Given the description of an element on the screen output the (x, y) to click on. 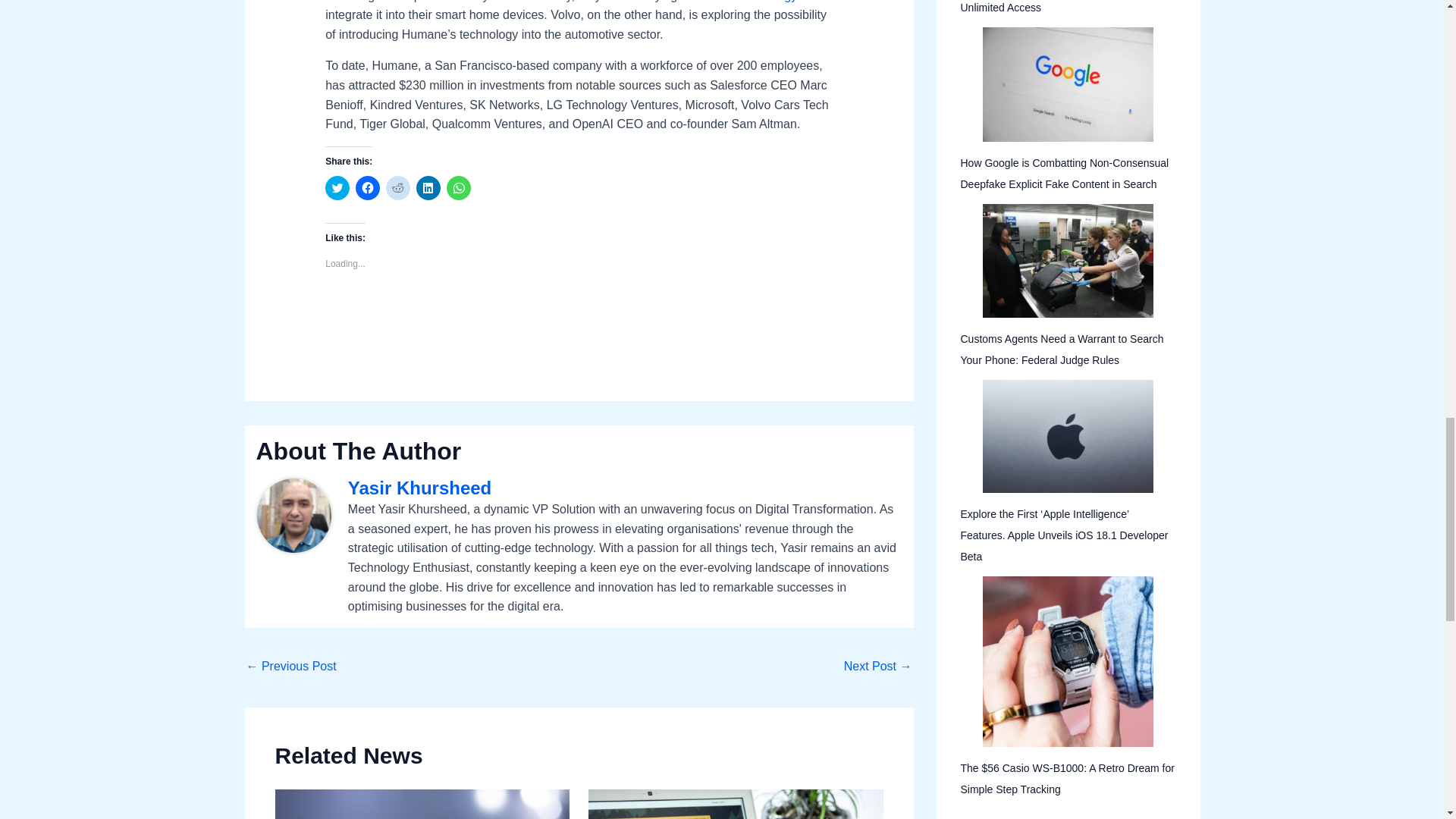
Click to share on Reddit (397, 187)
Click to share on Twitter (336, 187)
technology (767, 1)
Click to share on Facebook (367, 187)
Click to share on LinkedIn (428, 187)
Click to share on WhatsApp (458, 187)
Yasir Khursheed (624, 488)
Like or Reblog (578, 315)
